Given the description of an element on the screen output the (x, y) to click on. 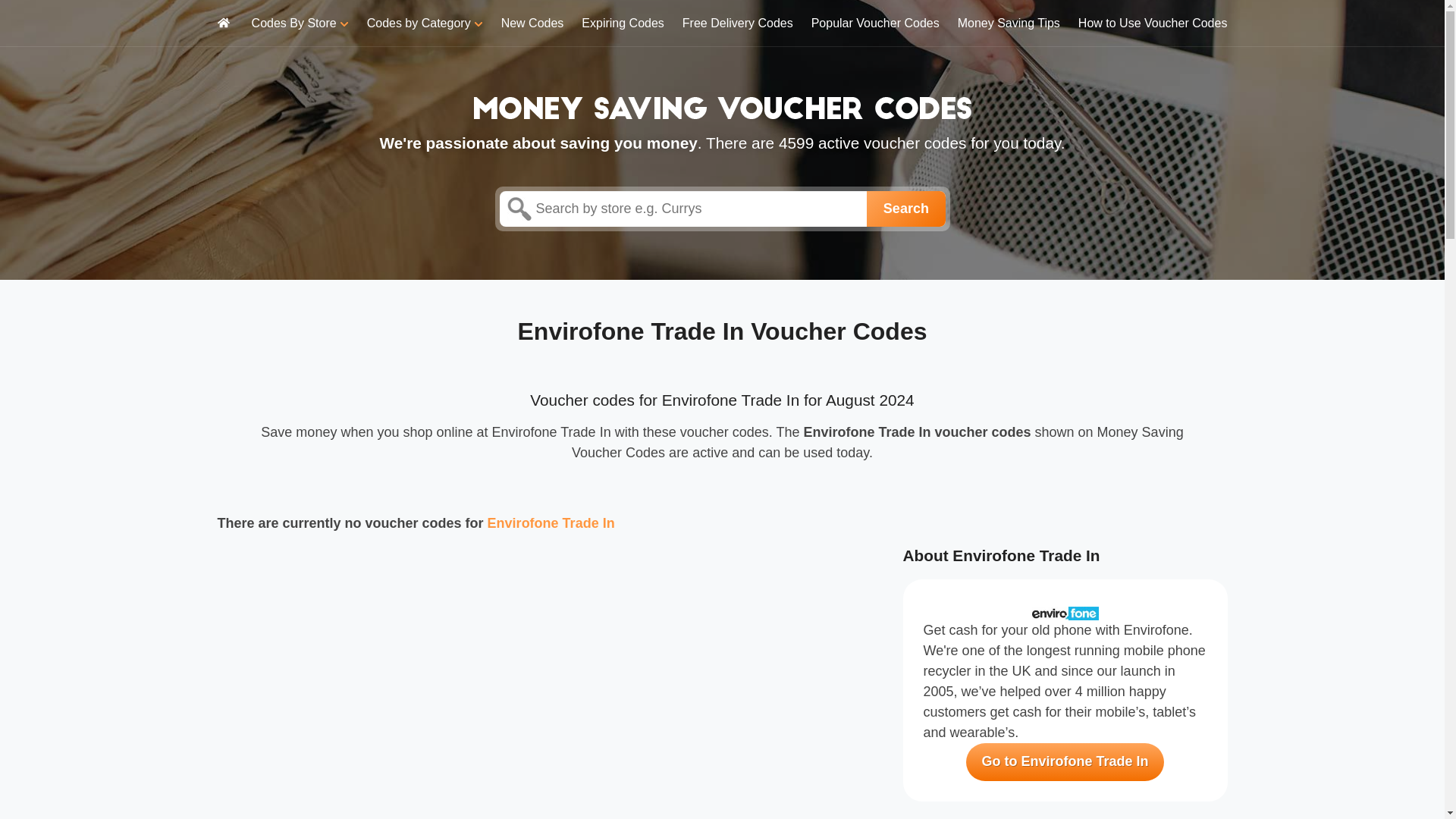
How to Use Voucher Codes (1152, 22)
Free Delivery Codes (738, 22)
Envirofone Trade In (550, 522)
Expiring Codes (622, 22)
Search (905, 208)
Codes By Store (300, 22)
New Codes (532, 22)
Visit our Homepage (722, 106)
Codes by Category (425, 22)
Go to Envirofone Trade In (1064, 761)
